Given the description of an element on the screen output the (x, y) to click on. 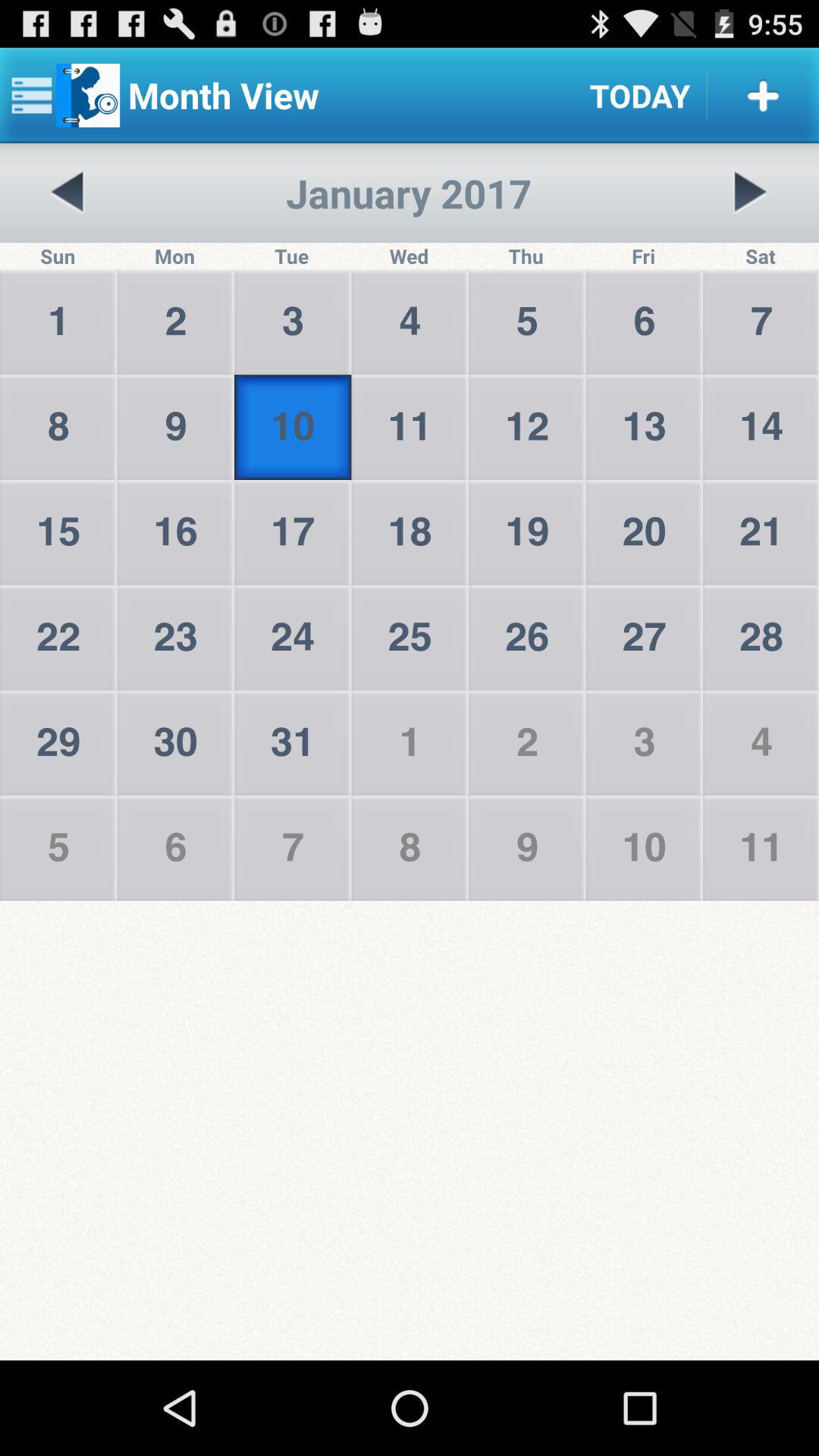
add new entry (763, 95)
